Given the description of an element on the screen output the (x, y) to click on. 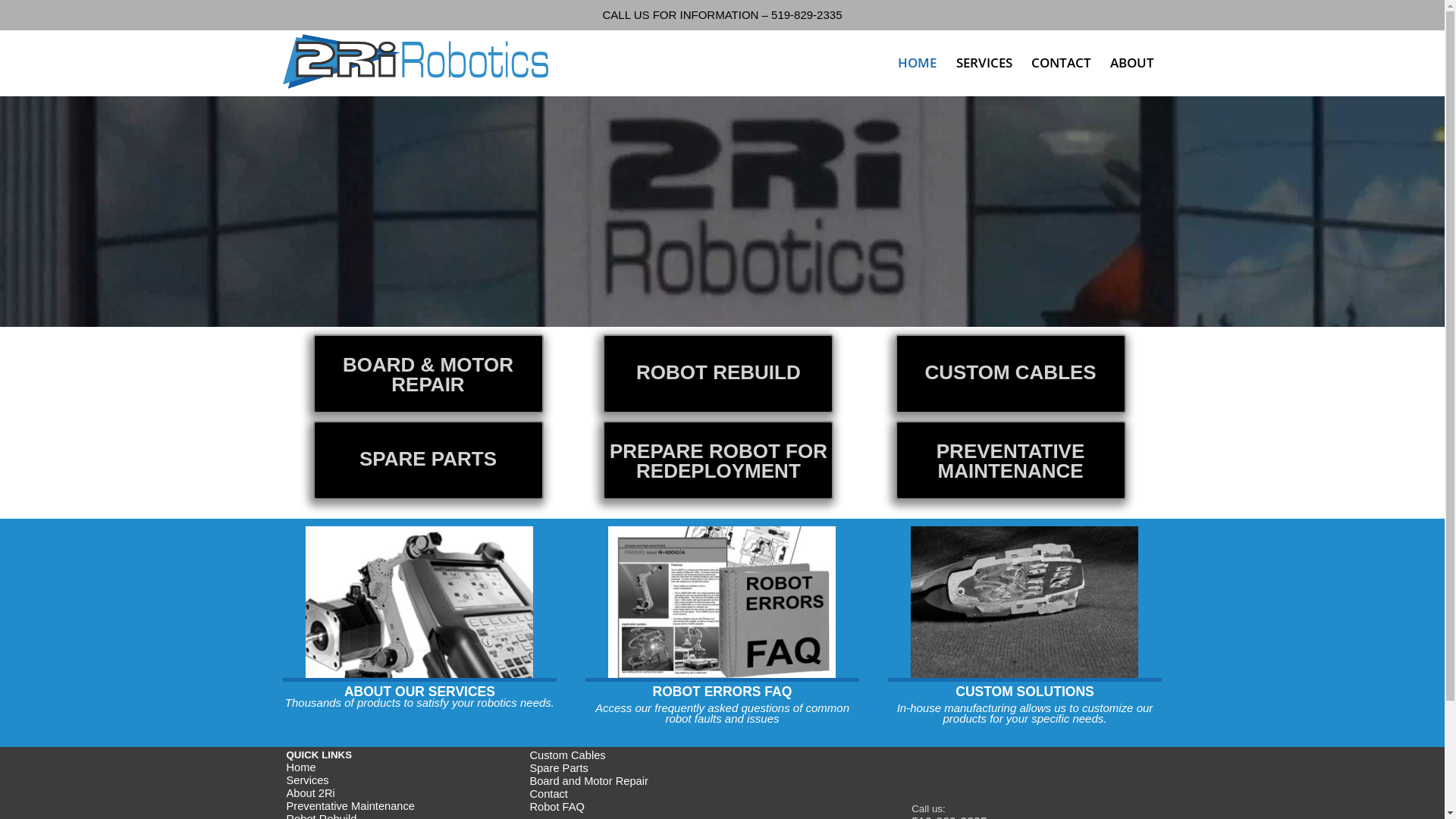
About 2Ri Element type: text (310, 793)
Home Element type: text (301, 767)
ABOUT OUR SERVICES Element type: hover (419, 601)
Spare Parts Element type: text (558, 768)
CUSTOM SOLUTIONS Element type: text (1024, 691)
Contact Element type: text (548, 793)
Robot FAQ Element type: text (556, 806)
Custom Cables Element type: text (567, 755)
Preventative Maintenance Element type: text (350, 806)
PREPARE ROBOT FOR REDEPLOYMENT Element type: text (717, 459)
ABOUT OUR SERVICES Element type: text (419, 691)
2ri_logo Element type: hover (414, 61)
PREVENTATIVE MAINTENANCE Element type: text (1010, 459)
CUSTOM SOLUTIONS Element type: hover (1024, 601)
ABOUT Element type: text (1131, 62)
ROBOT ERRORS FAQ Element type: text (722, 691)
BOARD & MOTOR REPAIR Element type: text (427, 373)
Board and Motor Repair Element type: text (588, 781)
ROBOT REBUILD Element type: text (717, 373)
Services Element type: text (307, 780)
CONTACT Element type: text (1060, 62)
SERVICES Element type: text (983, 62)
ROBOT ERRORS FAQ Element type: hover (721, 601)
CUSTOM CABLES Element type: text (1010, 373)
SPARE PARTS Element type: text (427, 459)
HOME Element type: text (917, 62)
